Given the description of an element on the screen output the (x, y) to click on. 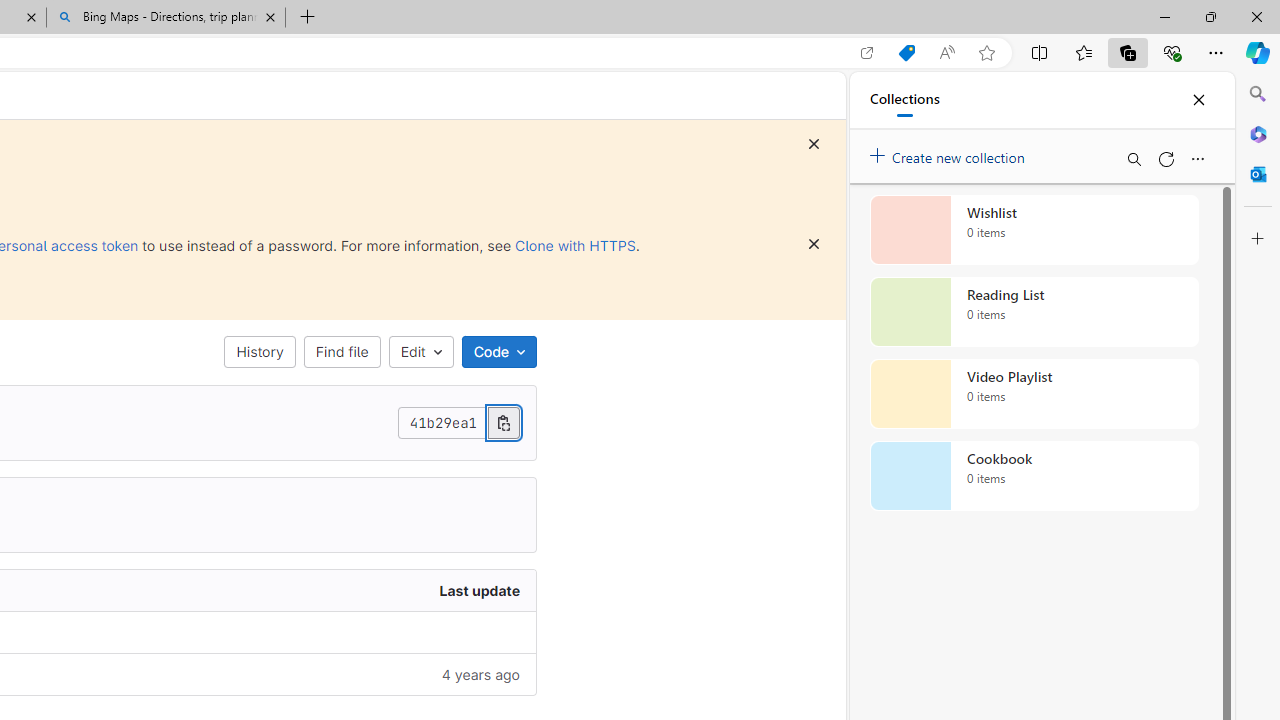
Find file (342, 351)
Code (498, 351)
4 years ago (289, 674)
Shopping in Microsoft Edge (906, 53)
Wishlist collection, 0 items (1034, 229)
Open in app (867, 53)
Cookbook collection, 0 items (1034, 475)
Clone with HTTPS (575, 245)
Class: s16 gl-icon gl-button-icon  (813, 243)
Dismiss (813, 243)
